Given the description of an element on the screen output the (x, y) to click on. 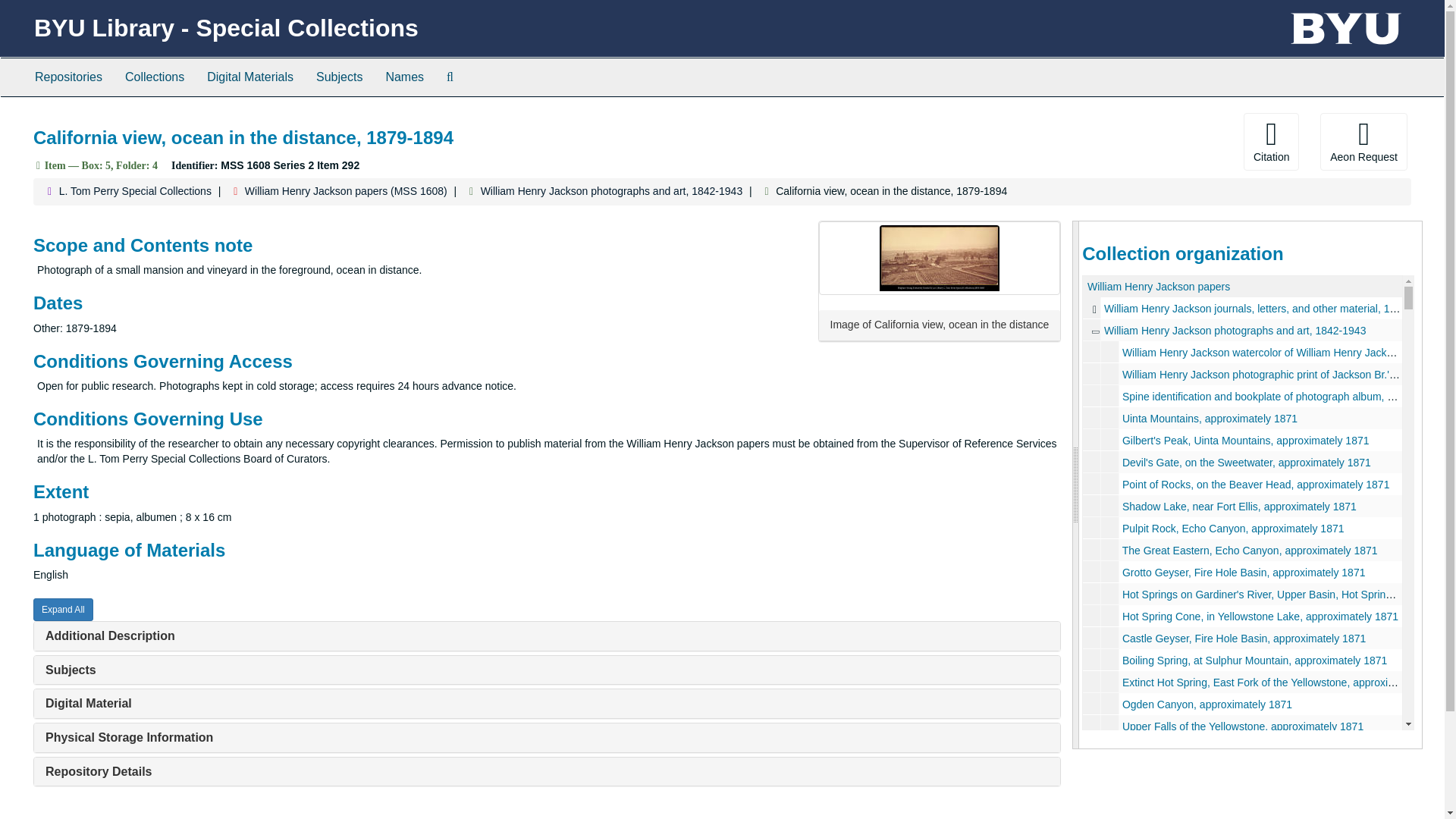
Spine identification and bookplate of photograph album (1242, 395)
BYU Library - Special Collections (226, 27)
William Henry Jackson journals, letters, and other material (1242, 308)
The Great Eastern, Echo Canyon (1242, 549)
Digital Material (88, 703)
Names (404, 77)
Digital Materials (249, 77)
Return to the homepage (226, 27)
William Henry Jackson photographs and art, 1842-1943 (611, 191)
